Given the description of an element on the screen output the (x, y) to click on. 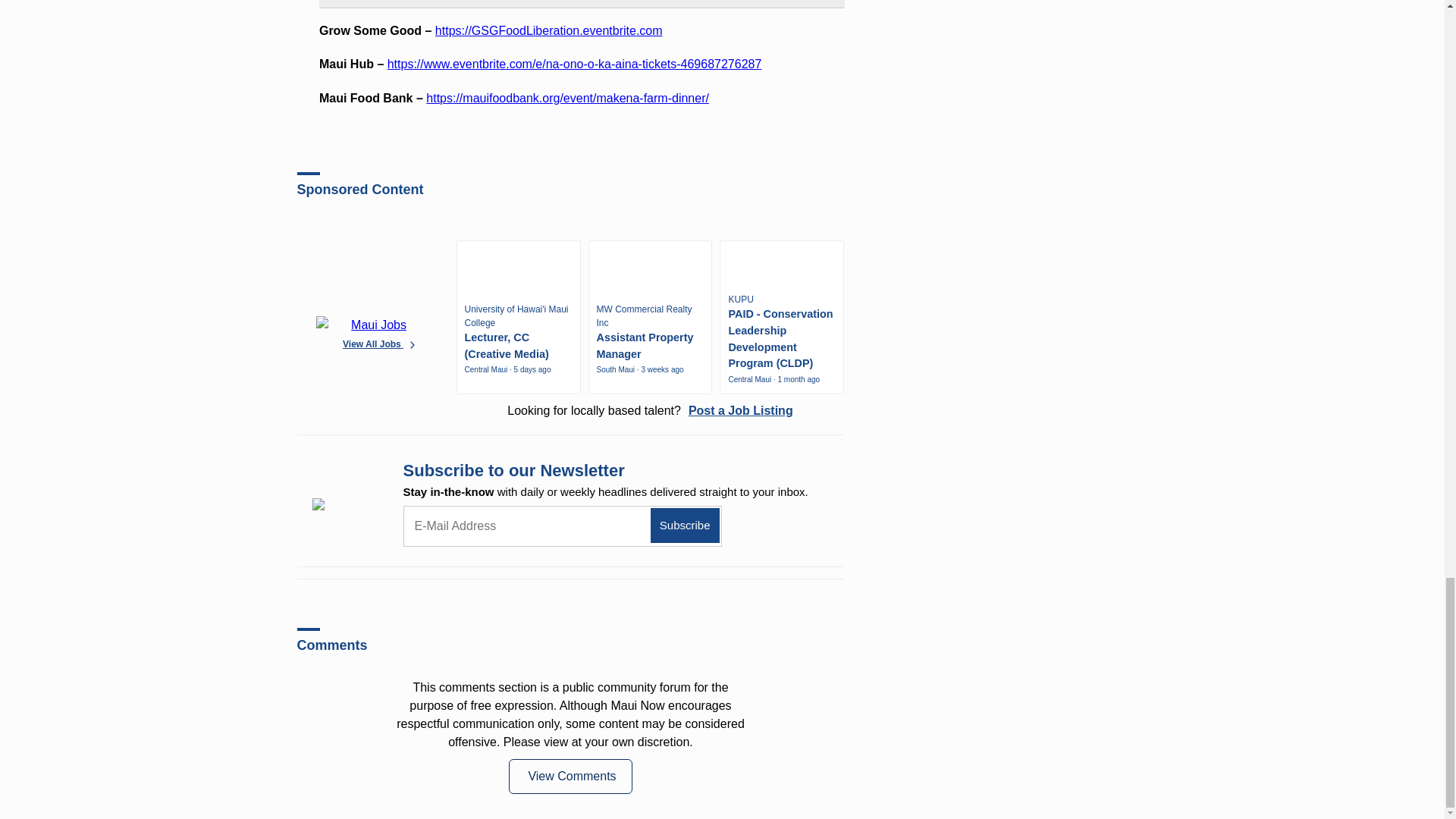
Chevron Forward (412, 344)
Subscribe (684, 525)
